Given the description of an element on the screen output the (x, y) to click on. 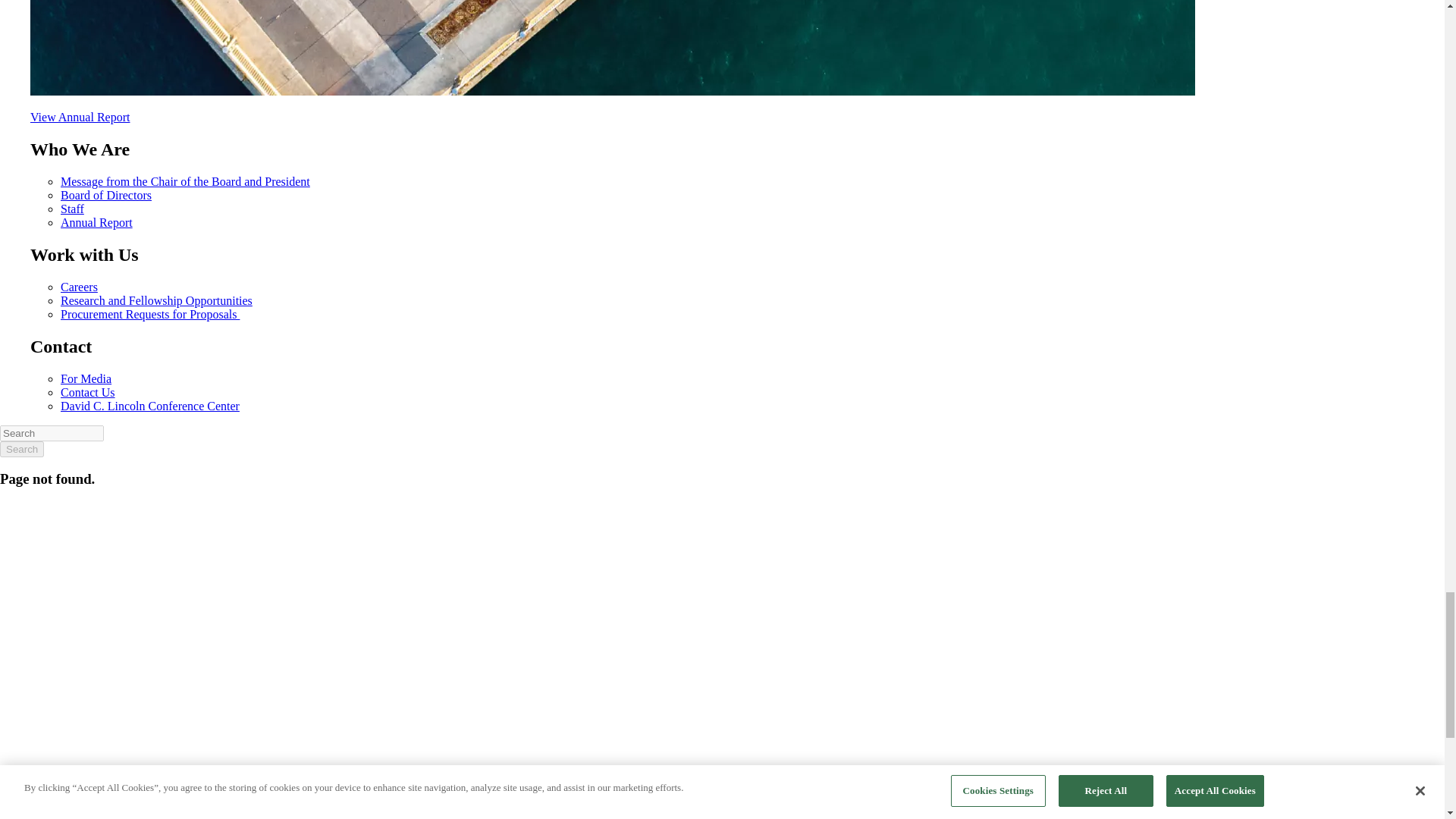
Search (51, 433)
Search (21, 449)
